Given the description of an element on the screen output the (x, y) to click on. 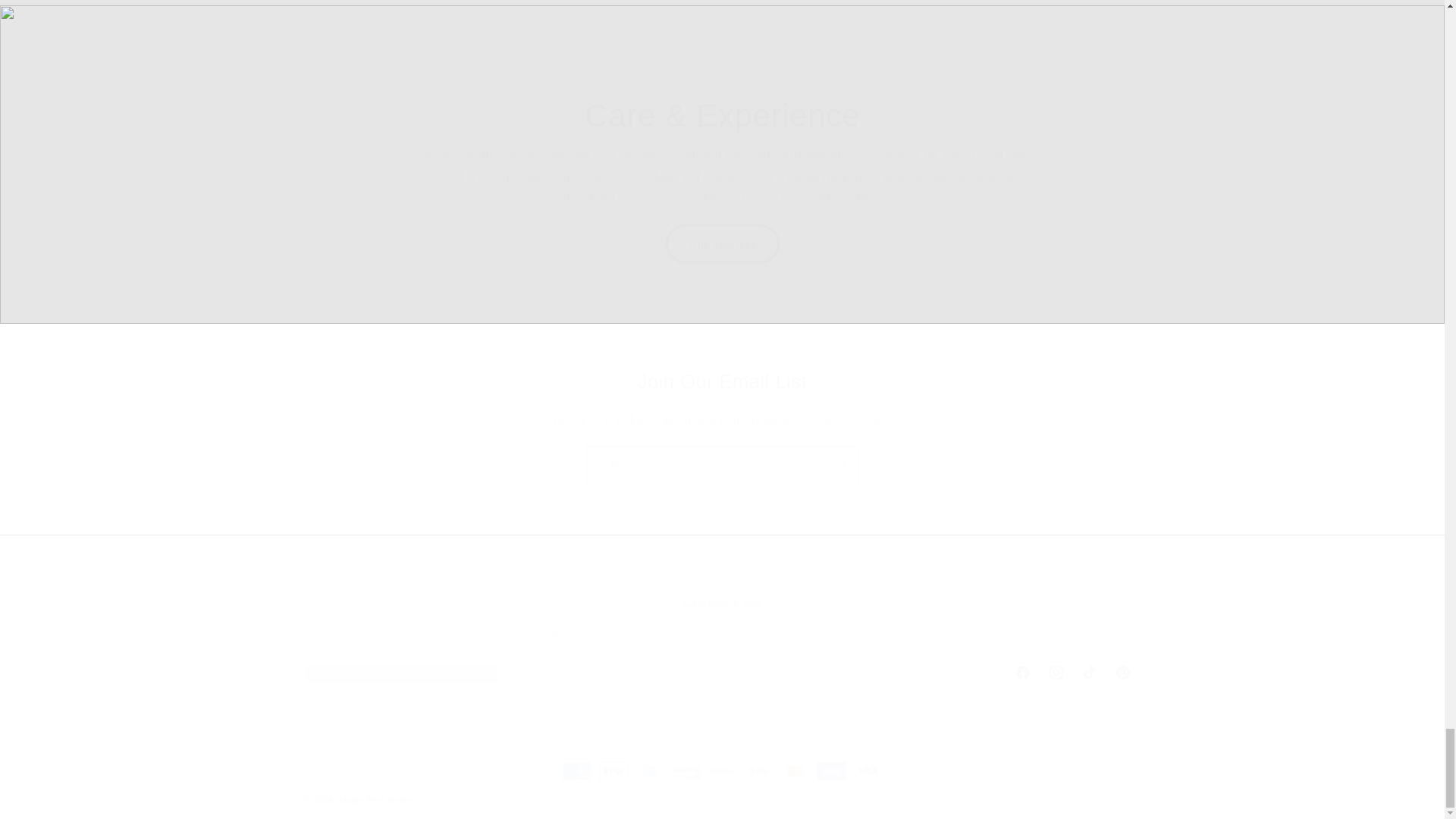
Email (722, 464)
Join Our Email List (721, 672)
